Given the description of an element on the screen output the (x, y) to click on. 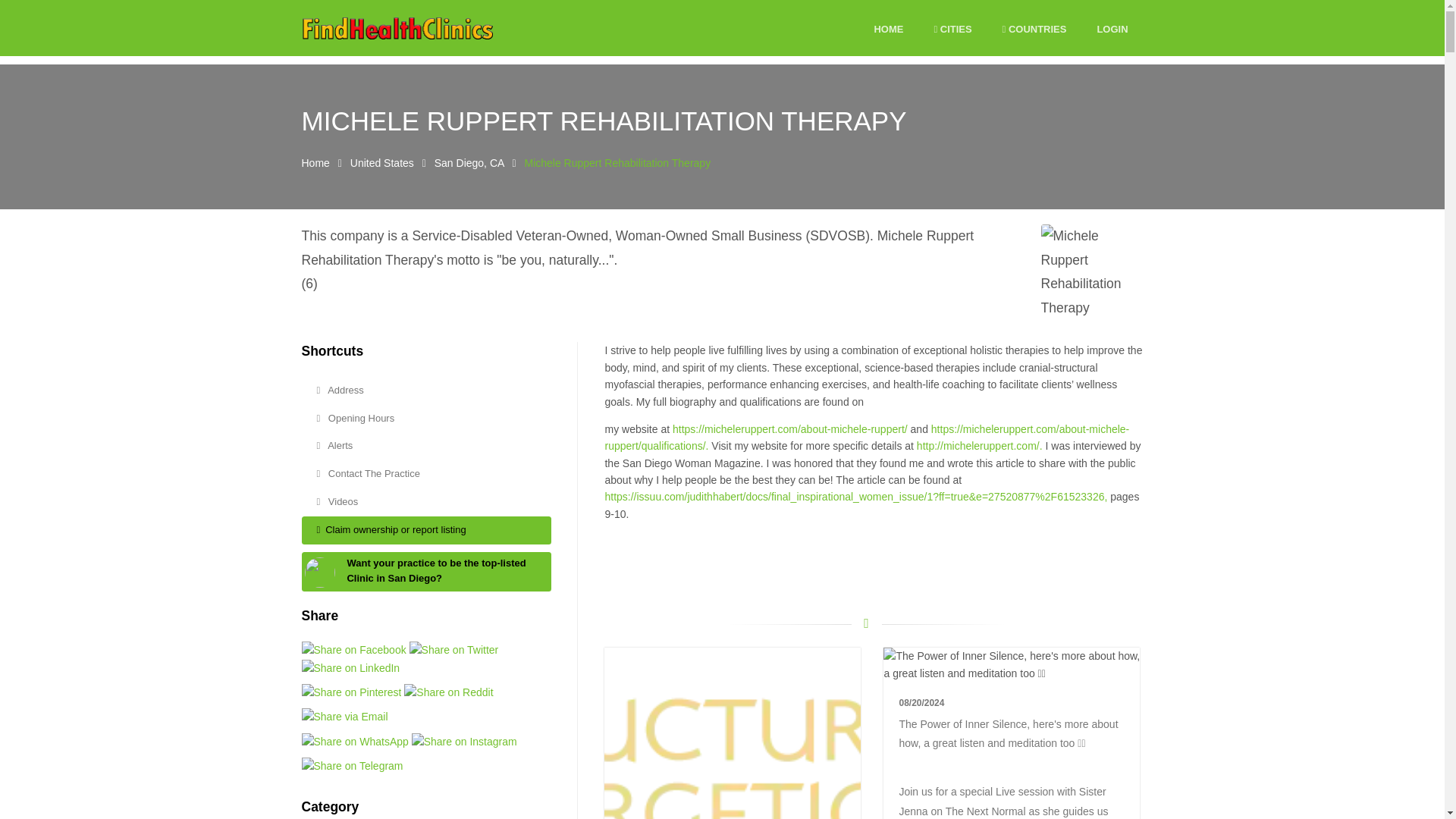
Claim ownership or report listing (426, 530)
Contact The Practice (426, 474)
Videos (426, 502)
HOME (887, 29)
Alerts (426, 446)
Home (315, 162)
Address (426, 390)
CITIES (952, 29)
San Diego, CA (468, 162)
United States (381, 162)
